Given the description of an element on the screen output the (x, y) to click on. 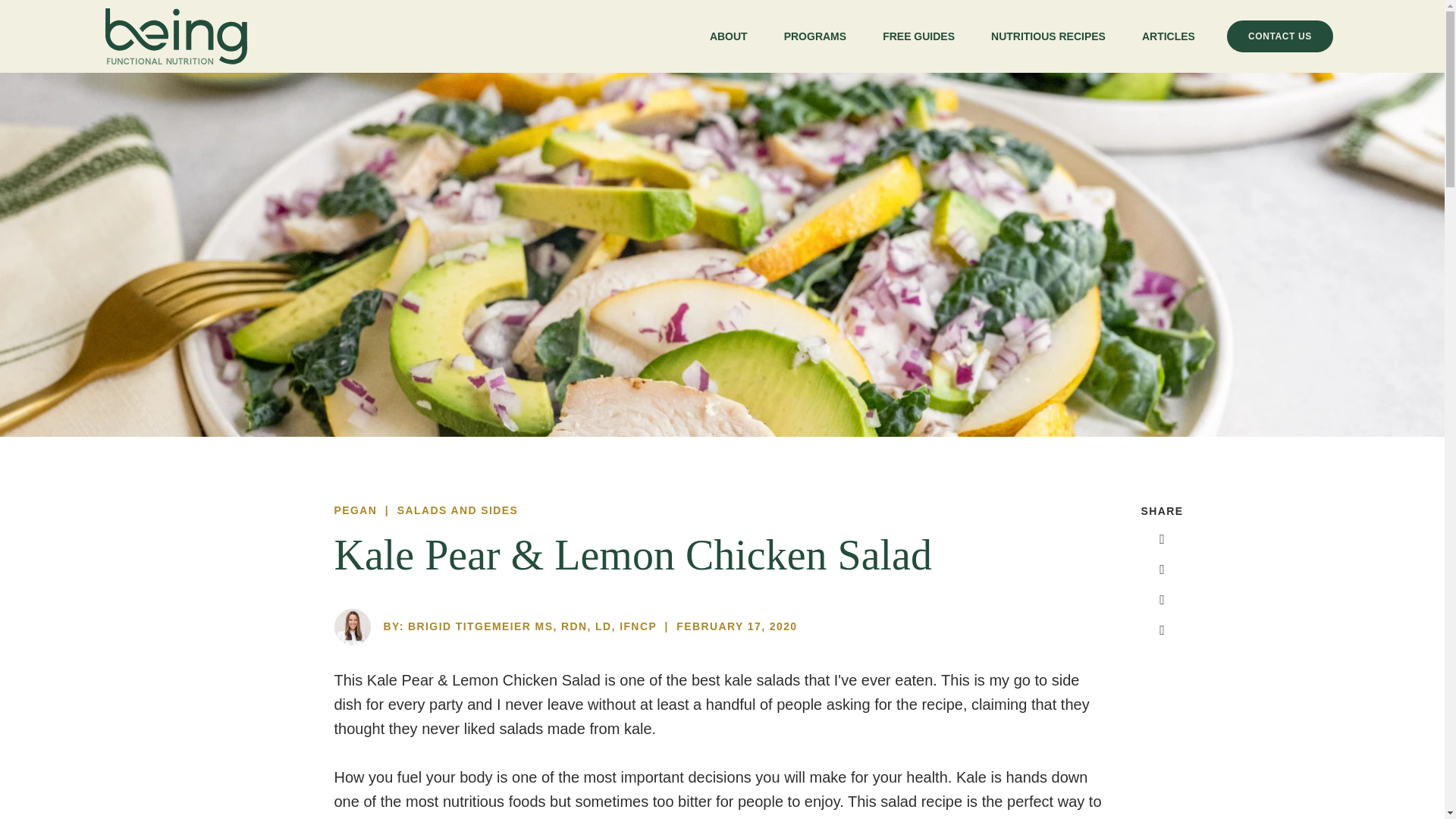
FREE GUIDES (918, 36)
Share this story on Pinterest (1161, 600)
Share this story on LinkedIn (1161, 630)
Share this story on Facebook (1161, 539)
CONTACT US (1280, 36)
ARTICLES (1168, 36)
Share this story on Facebook (1161, 539)
ABOUT (728, 36)
Share this story on LinkedIn (1161, 630)
Share this story on Twitter (1161, 570)
NUTRITIOUS RECIPES (1048, 36)
PROGRAMS (814, 36)
Share this story on Pinterest (1161, 600)
Share this story on Twitter (1161, 570)
